Given the description of an element on the screen output the (x, y) to click on. 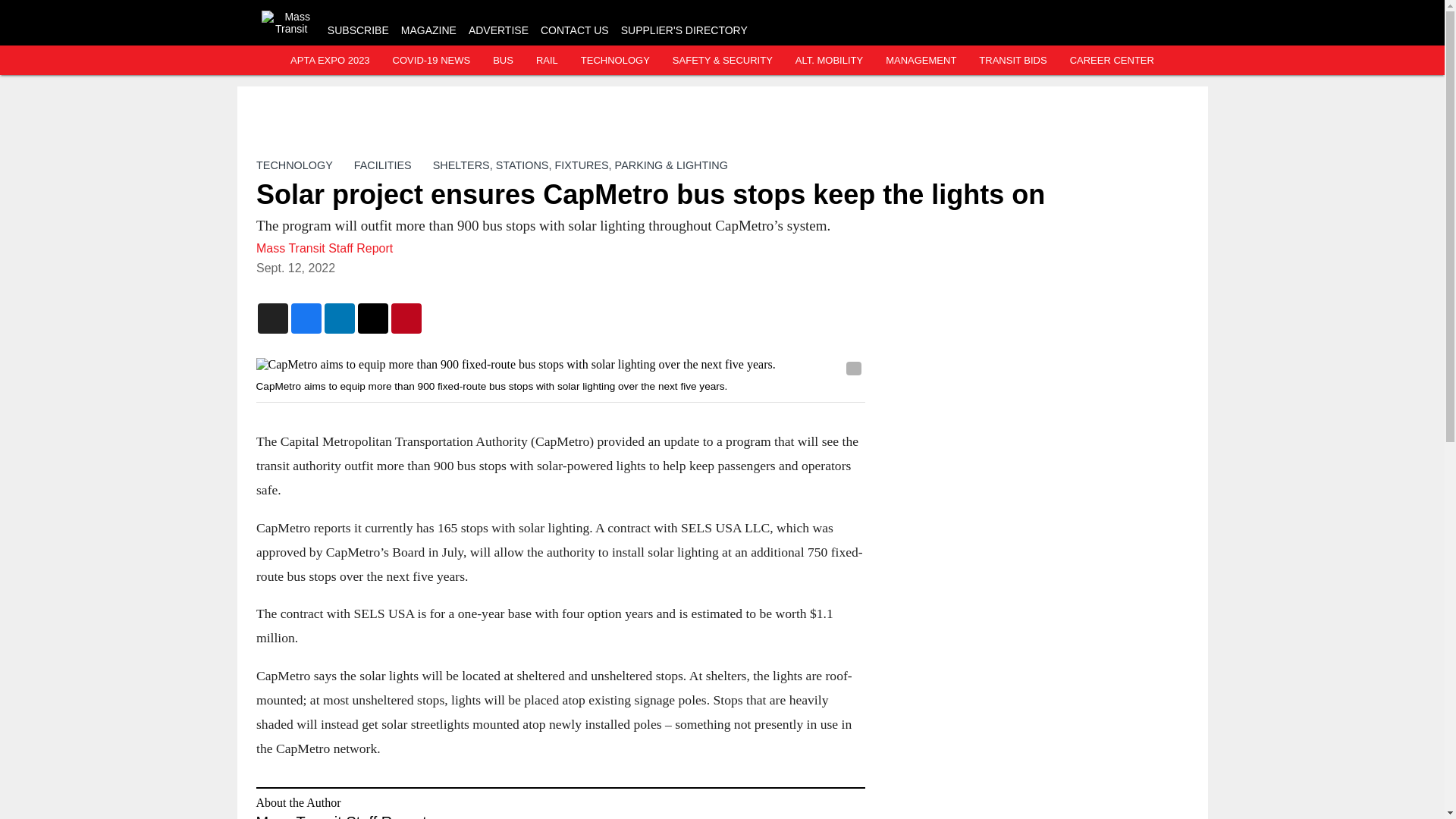
TECHNOLOGY (614, 60)
RAIL (546, 60)
SUBSCRIBE (357, 30)
BUS (503, 60)
TRANSIT BIDS (1012, 60)
CAREER CENTER (1112, 60)
CONTACT US (574, 30)
COVID-19 NEWS (431, 60)
Mass Transit Staff Report (324, 247)
